Given the description of an element on the screen output the (x, y) to click on. 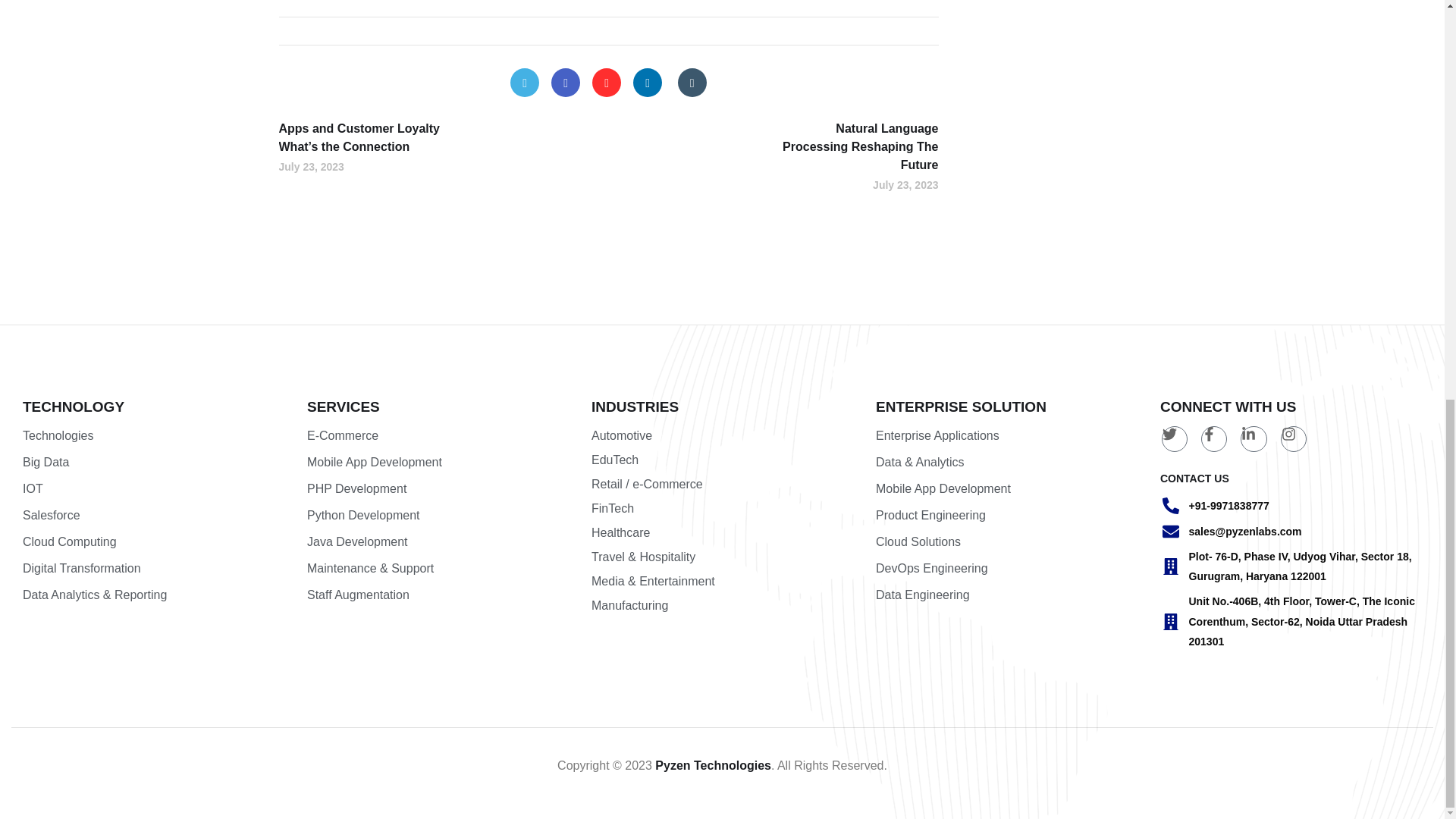
Pinterest (606, 82)
Facebook (565, 82)
Twitter (524, 82)
Tumblr (692, 82)
LinkedIn (647, 82)
